Given the description of an element on the screen output the (x, y) to click on. 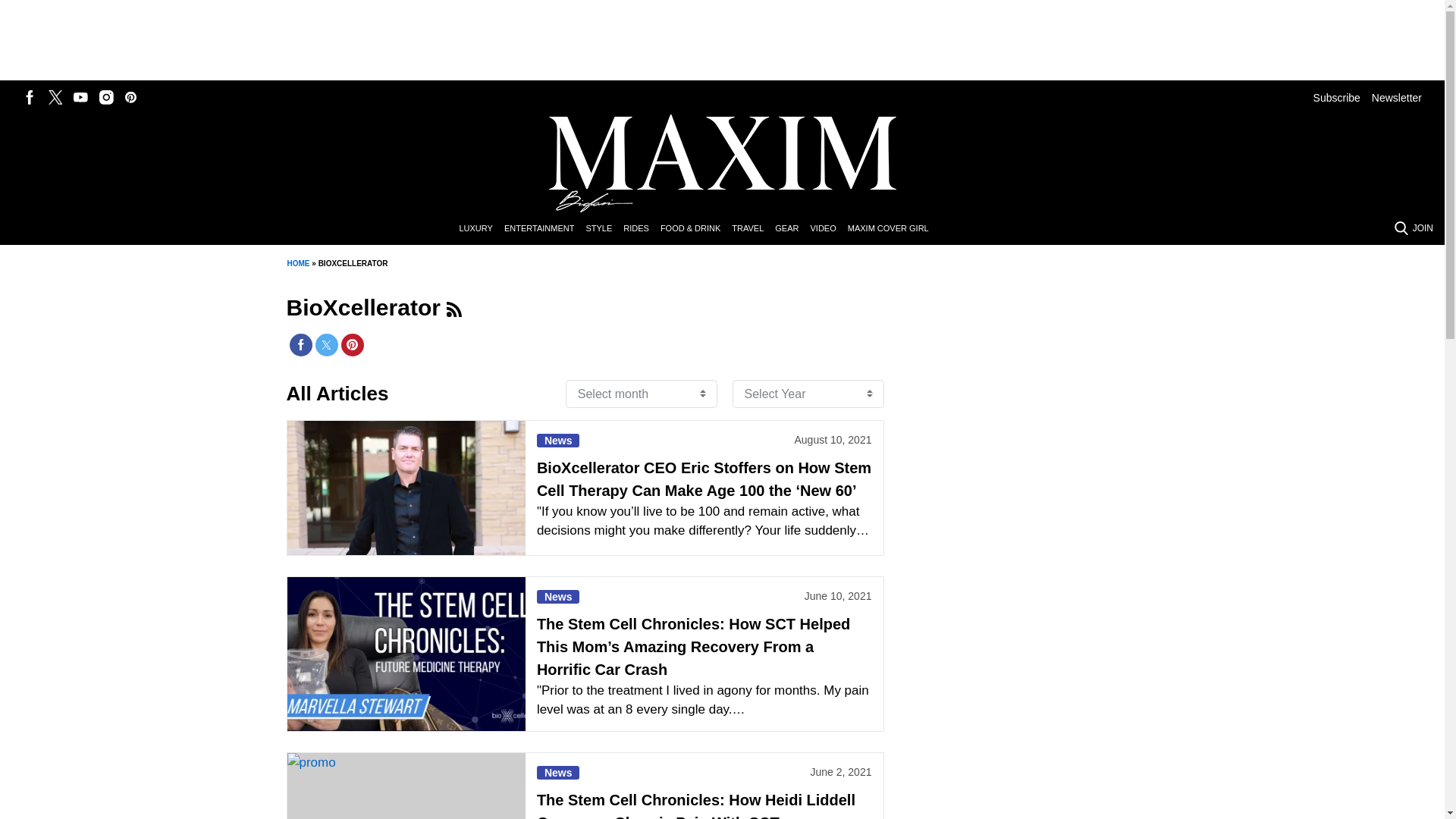
Follow us on Youtube (80, 97)
Share on Facebook (301, 344)
TRAVEL (753, 228)
MAXIM COVER GIRL (893, 228)
Follow us on Instagram (106, 97)
Group (453, 309)
STYLE (604, 228)
Subscribe (1336, 97)
HOME (297, 263)
ENTERTAINMENT (544, 228)
